Given the description of an element on the screen output the (x, y) to click on. 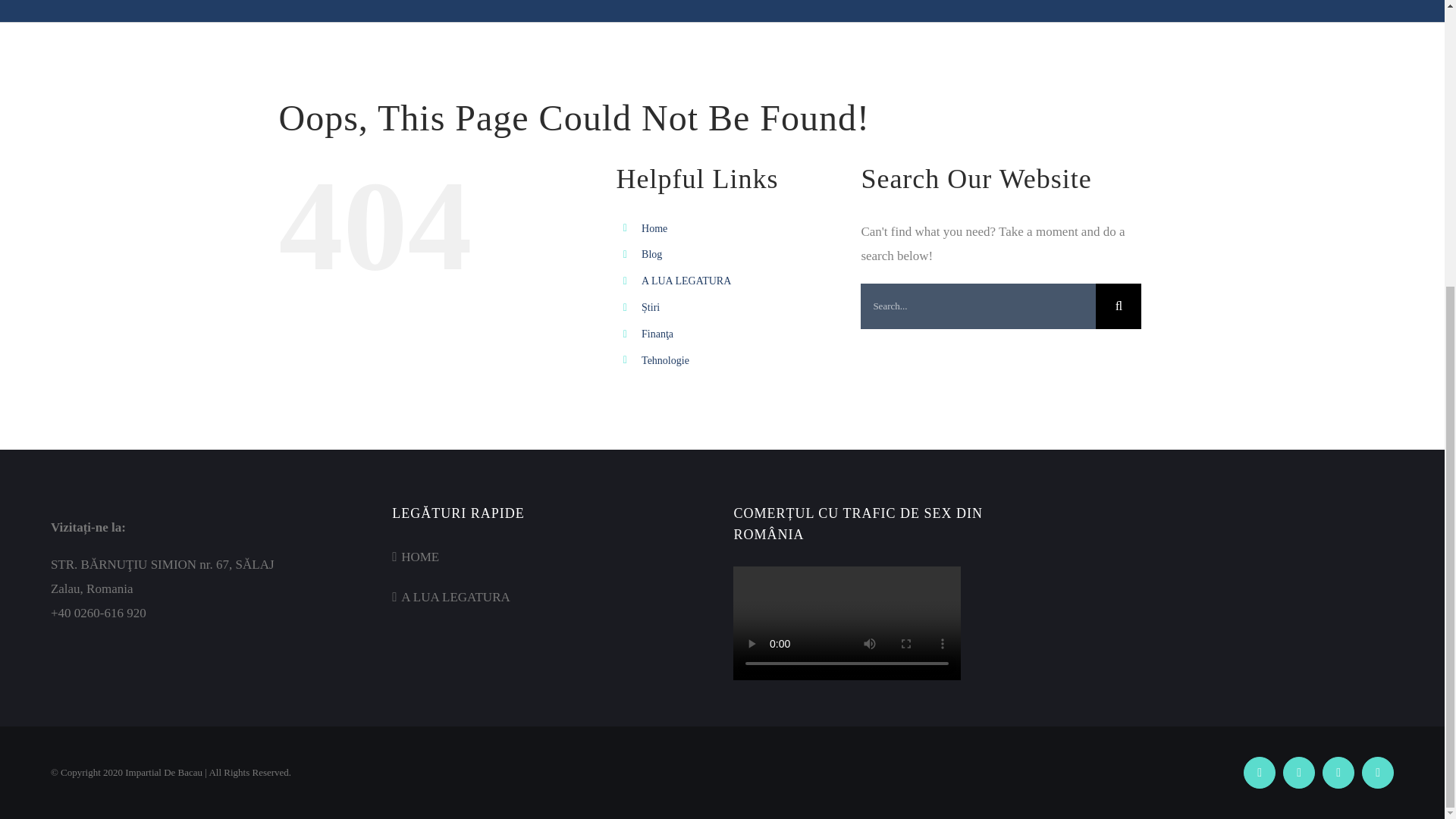
Facebook (1259, 772)
Instagram (1377, 772)
Twitter (1298, 772)
Facebook (1259, 772)
Instagram (1377, 772)
HOME (552, 557)
Blog (652, 254)
YouTube (1338, 772)
A LUA LEGATURA (686, 280)
Twitter (1298, 772)
